Given the description of an element on the screen output the (x, y) to click on. 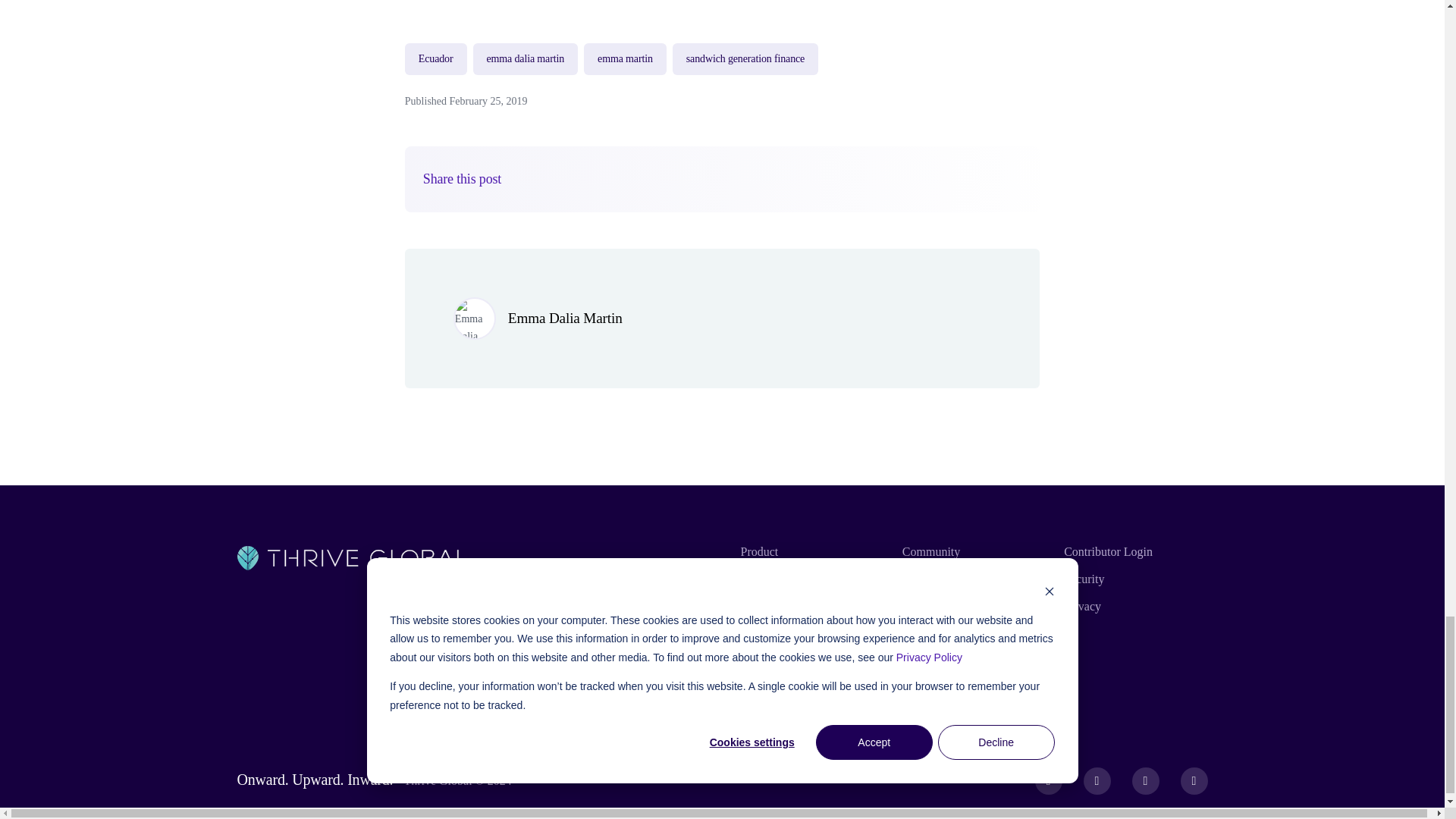
Emma Dalia Martin (565, 317)
